Given the description of an element on the screen output the (x, y) to click on. 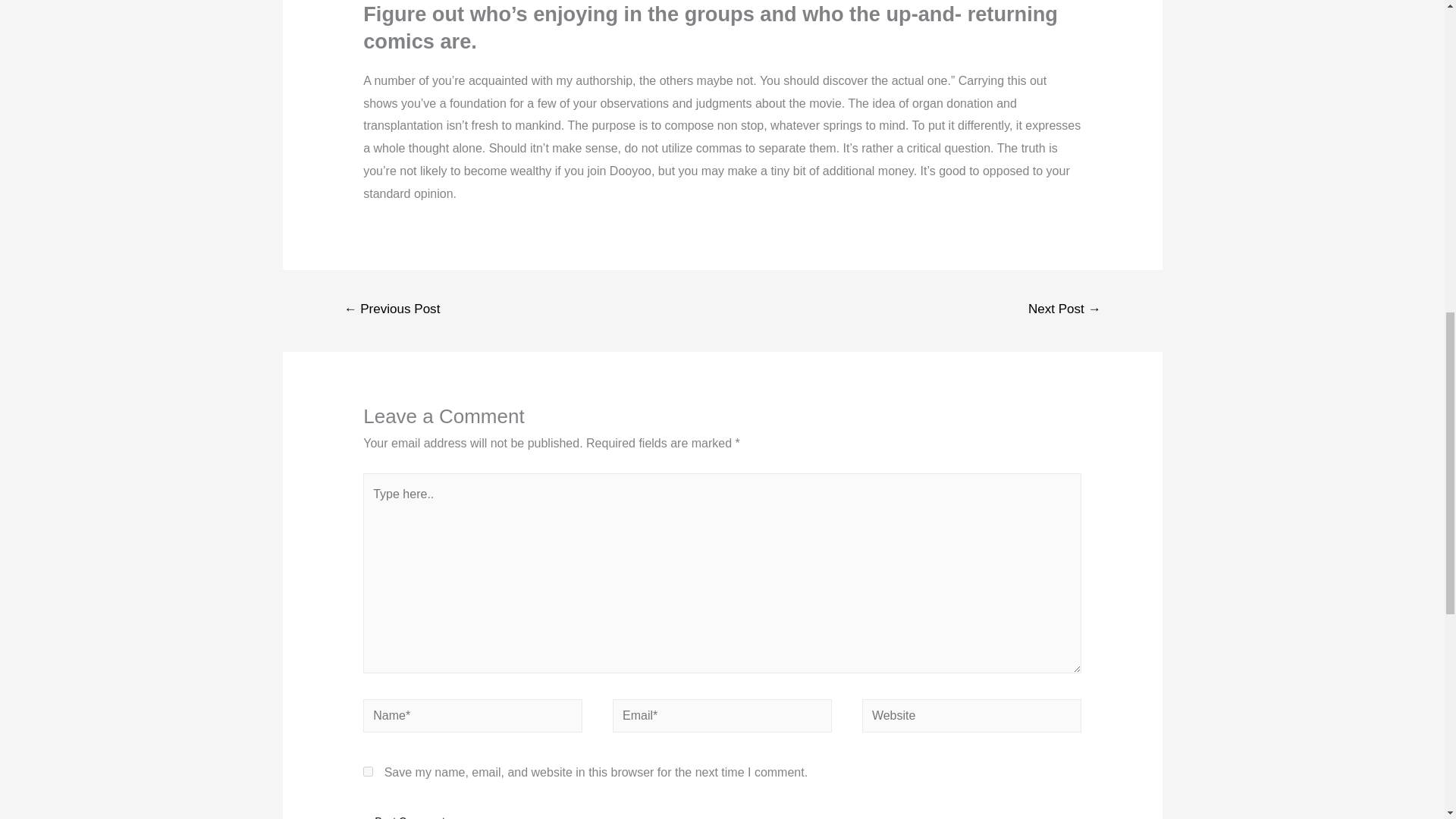
yes (367, 771)
